Given the description of an element on the screen output the (x, y) to click on. 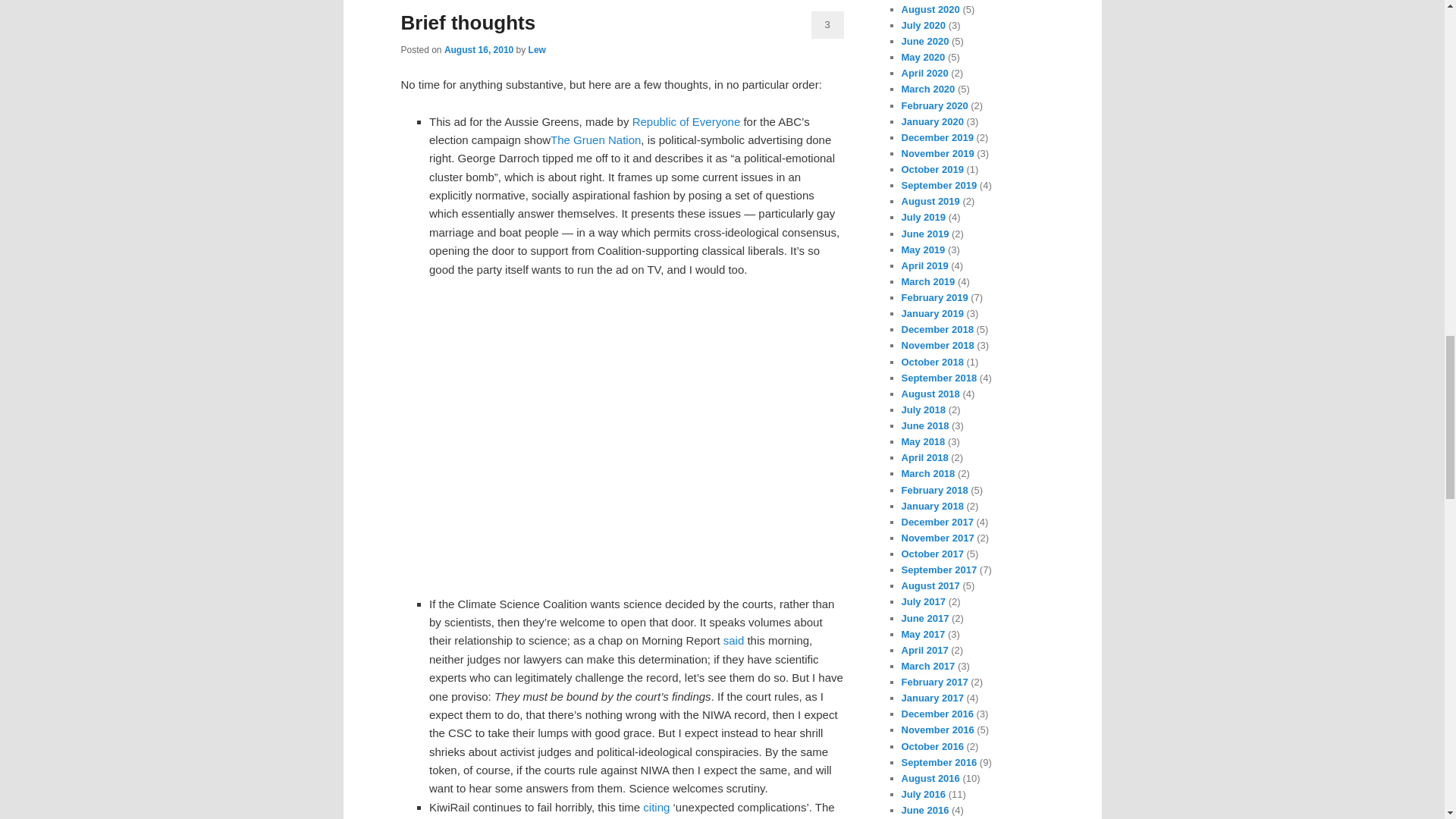
Brief thoughts (467, 22)
citing (656, 807)
Lew (537, 50)
The Gruen Nation (595, 139)
View all posts by Lew (537, 50)
09:03 (478, 50)
said (733, 640)
3 (827, 24)
August 16, 2010 (478, 50)
Republic of Everyone (686, 121)
